Given the description of an element on the screen output the (x, y) to click on. 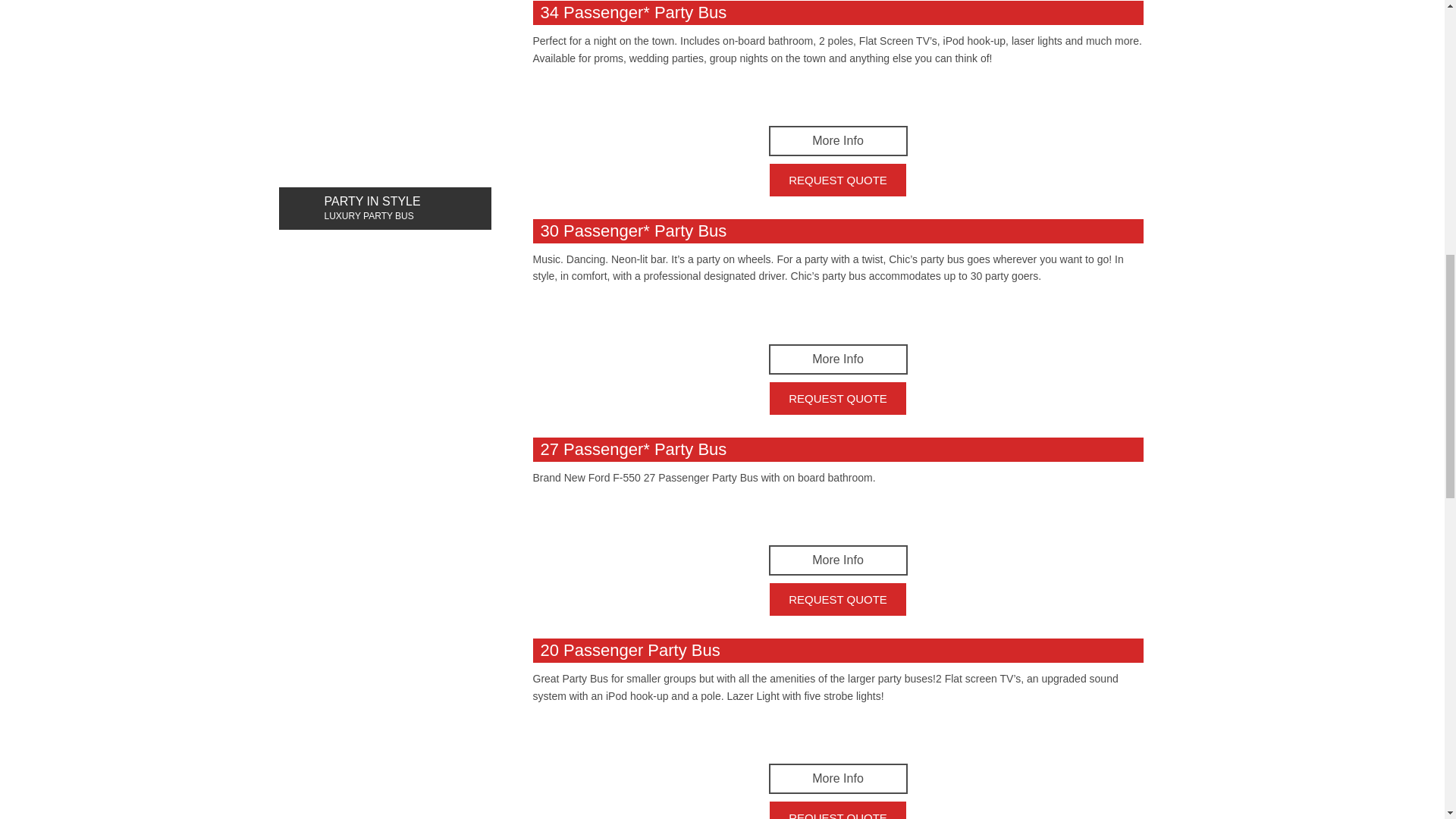
REQUEST QUOTE (837, 179)
View Video (837, 95)
More Info (837, 141)
More Info (837, 778)
More Info (837, 560)
REQUEST QUOTE (837, 599)
REQUEST QUOTE (837, 398)
REQUEST QUOTE (837, 810)
View Video (837, 314)
More Info (837, 358)
View Video (837, 515)
View Video (837, 733)
